Given the description of an element on the screen output the (x, y) to click on. 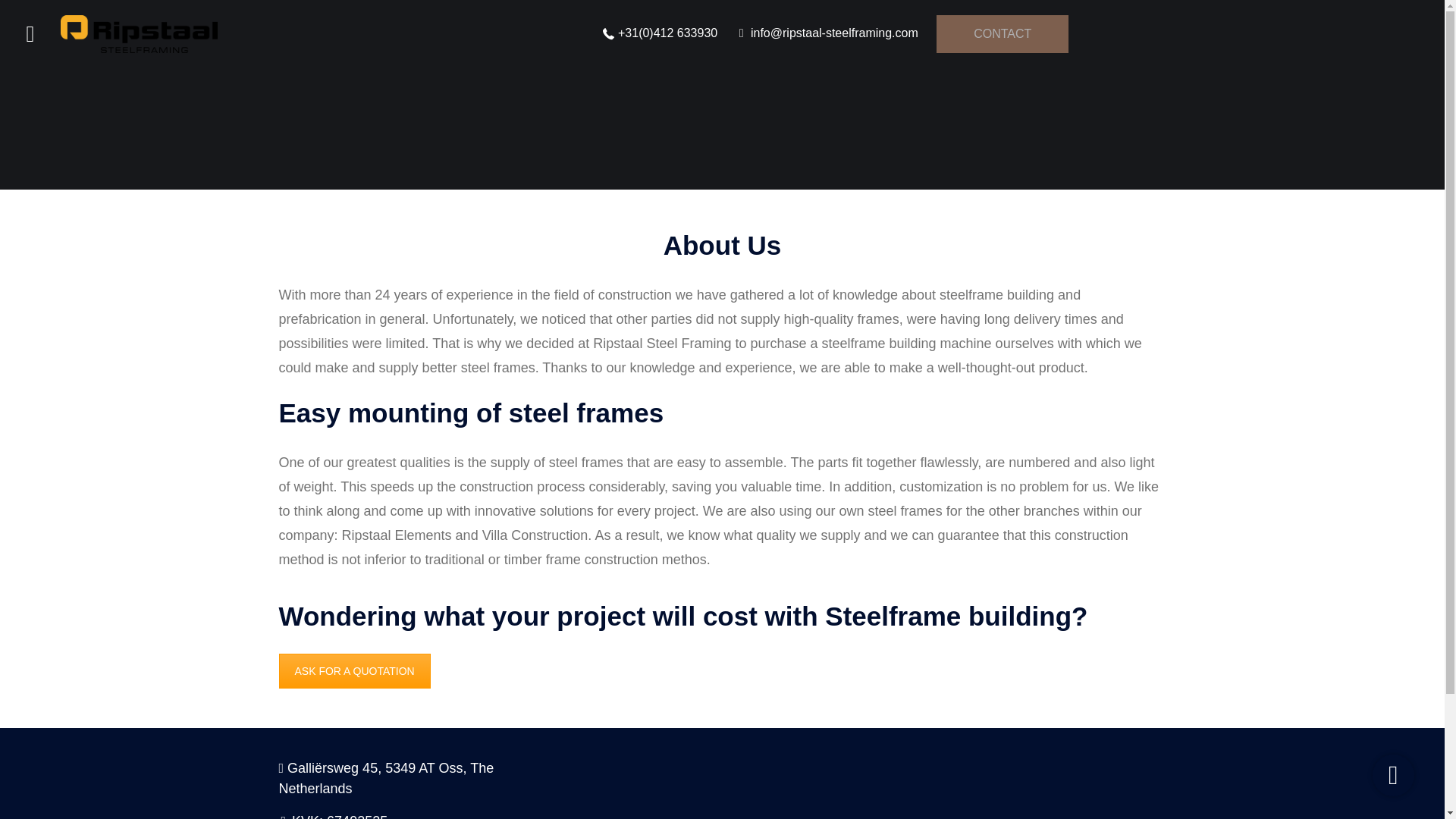
CONTACT (1002, 34)
ASK FOR A QUOTATION (354, 670)
CONTACT (999, 32)
